Given the description of an element on the screen output the (x, y) to click on. 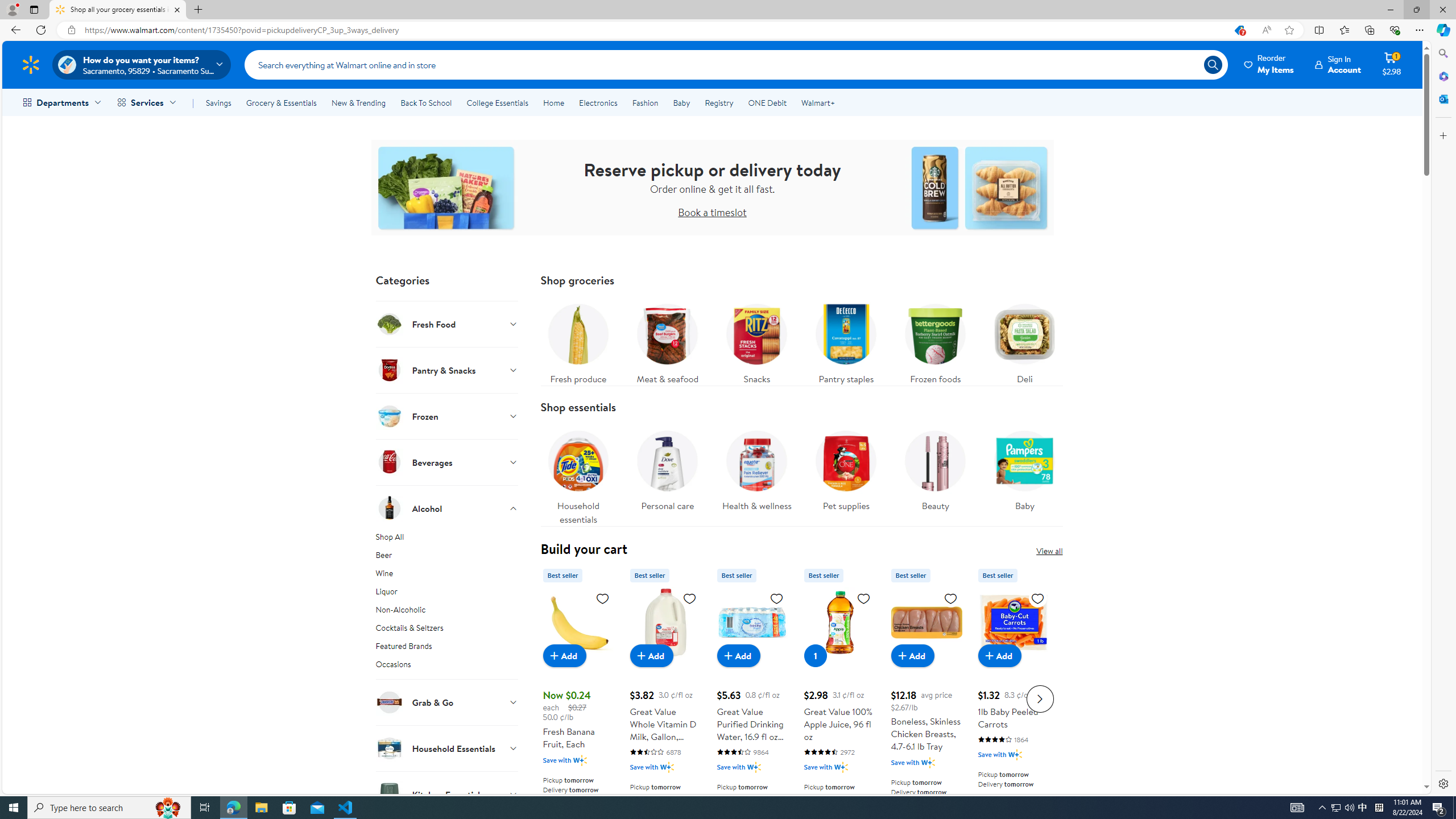
Health & wellness (756, 473)
Pantry & Snacks (446, 370)
1 in cart, Great Value 100% Apple Juice, 96 fl oz (815, 655)
Close (1442, 9)
Sign InAccount (1338, 64)
Shop All (446, 539)
Health & wellness (756, 467)
Fresh Banana Fruit, Each (578, 621)
Close tab (176, 9)
Side bar (1443, 418)
Baby (1024, 467)
Pet supplies (845, 467)
Electronics (598, 102)
Grocery & Essentials (280, 102)
